Given the description of an element on the screen output the (x, y) to click on. 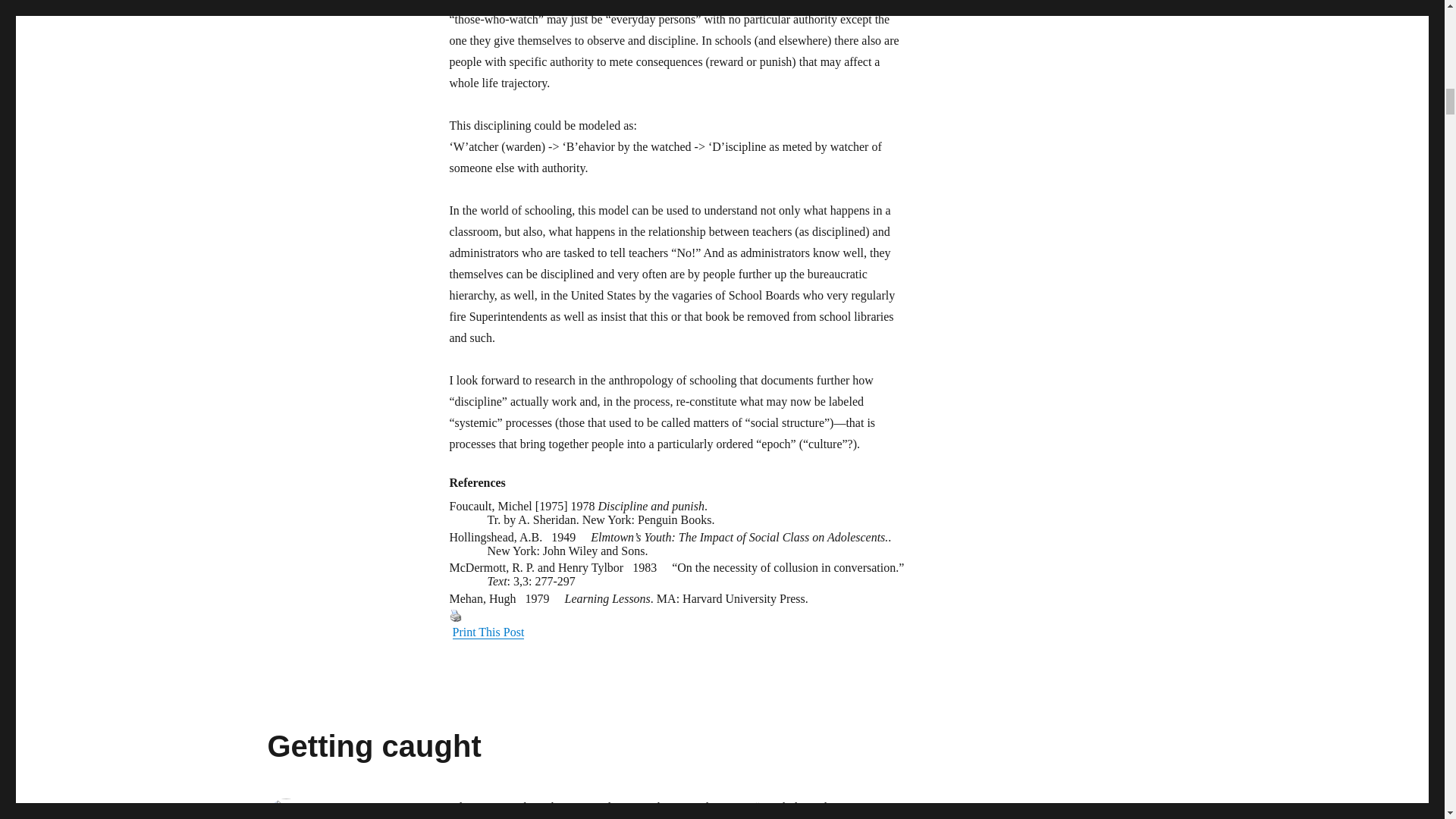
Getting caught (373, 745)
Print This Post (487, 631)
Print This Post (454, 615)
Print This Post (676, 623)
Print This Post (487, 631)
